Given the description of an element on the screen output the (x, y) to click on. 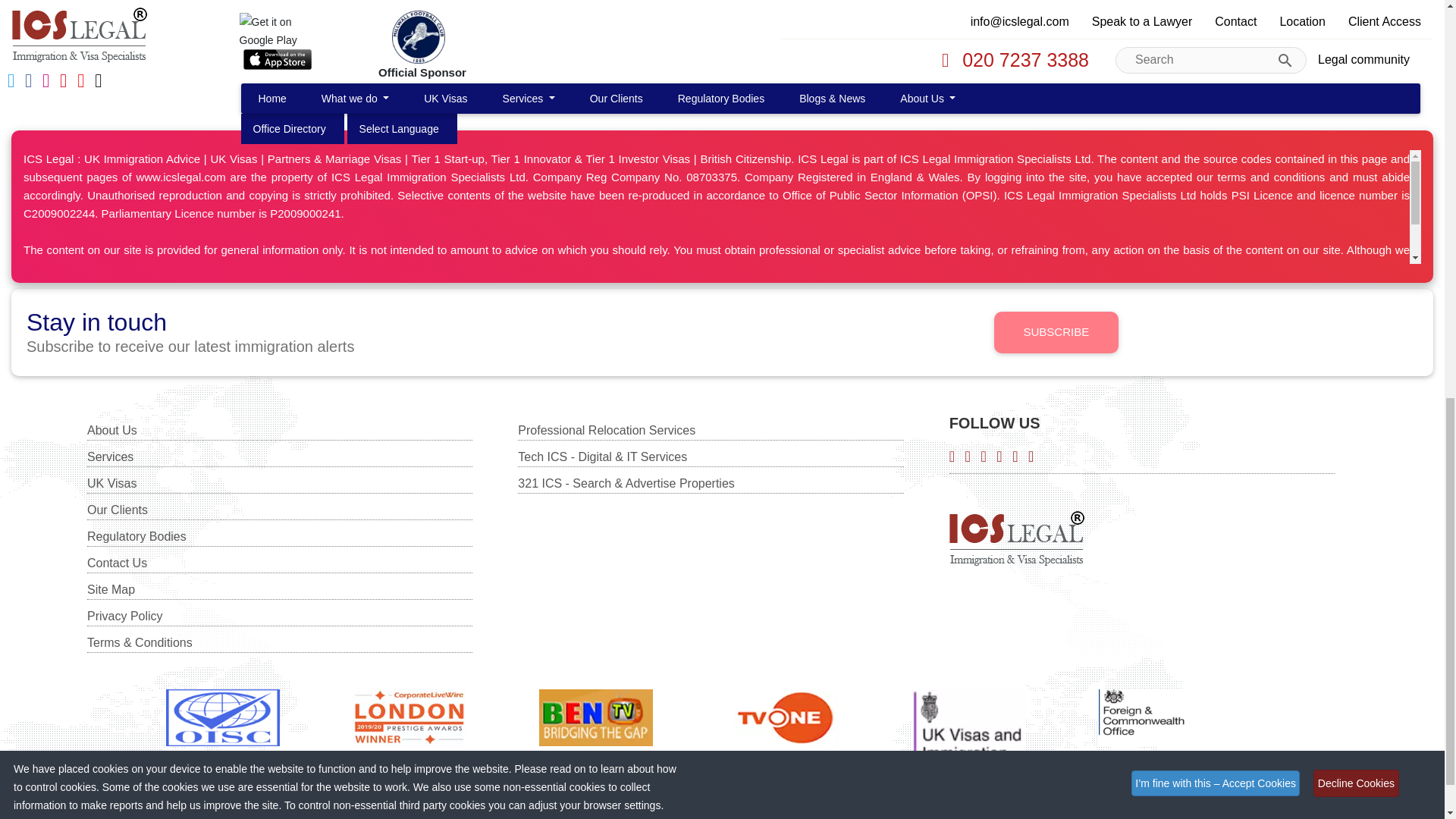
Advertisement (721, 43)
Tech ICS (271, 799)
